Given the description of an element on the screen output the (x, y) to click on. 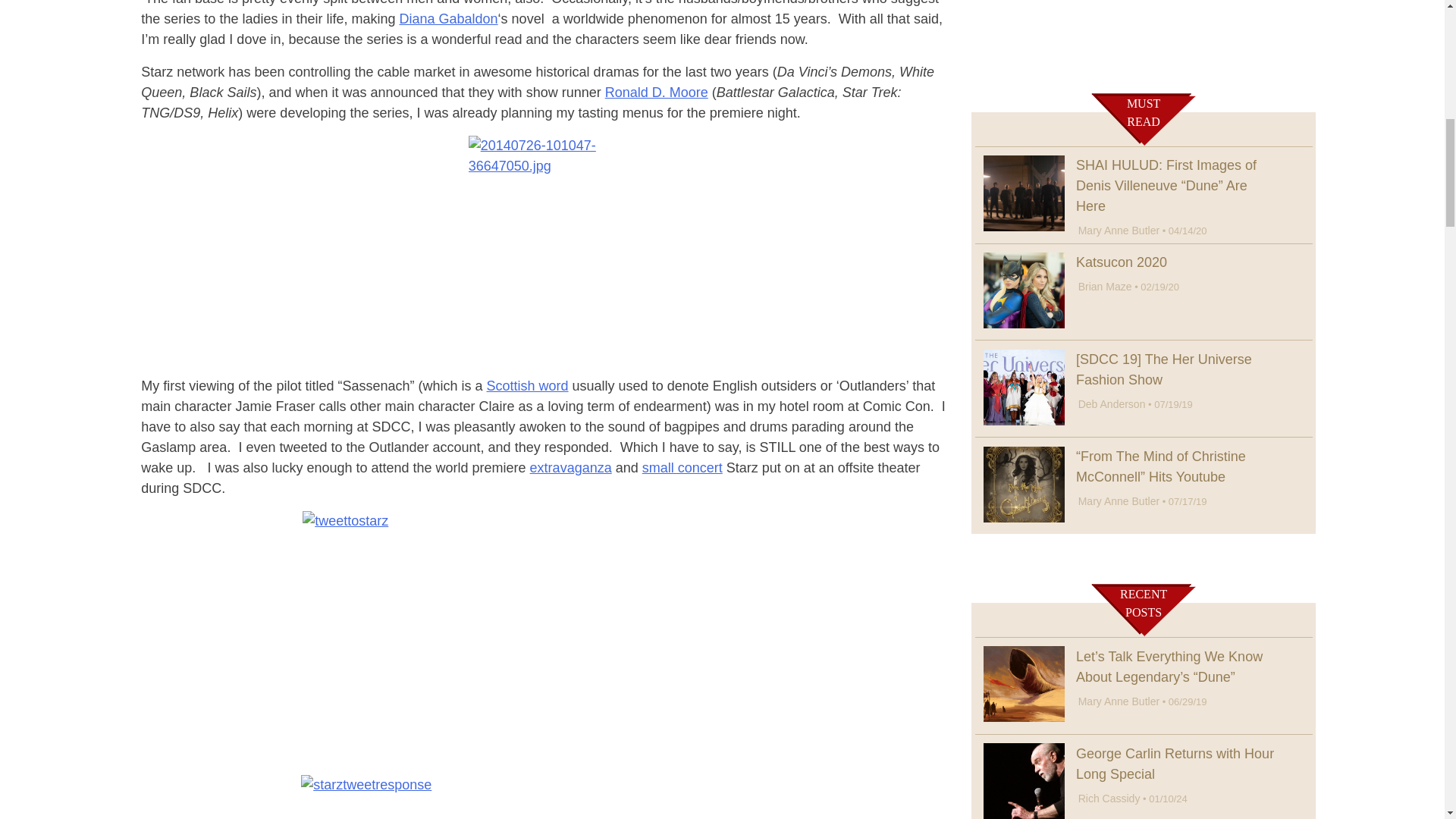
Diana Gabaldon (447, 18)
Scottish word (527, 385)
Advertisement (1143, 35)
Ronald D. Moore (656, 92)
